Given the description of an element on the screen output the (x, y) to click on. 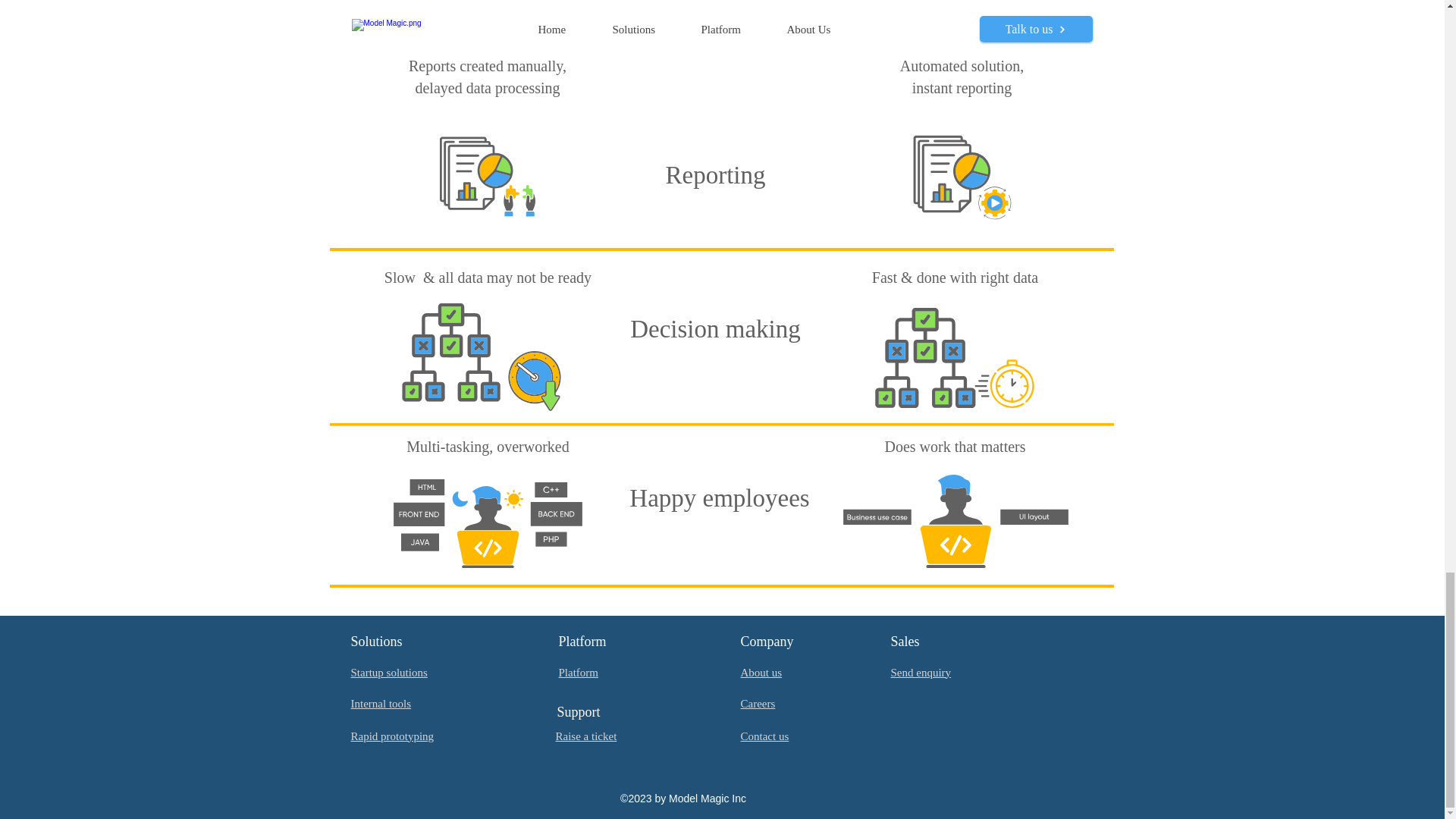
Startup solutions (388, 672)
Contact us (764, 736)
Send enquiry (919, 672)
Raise a ticket (584, 736)
Internal tools (380, 703)
Rapid prototyping (391, 736)
Platform (577, 672)
Careers (756, 703)
About us (760, 672)
